Given the description of an element on the screen output the (x, y) to click on. 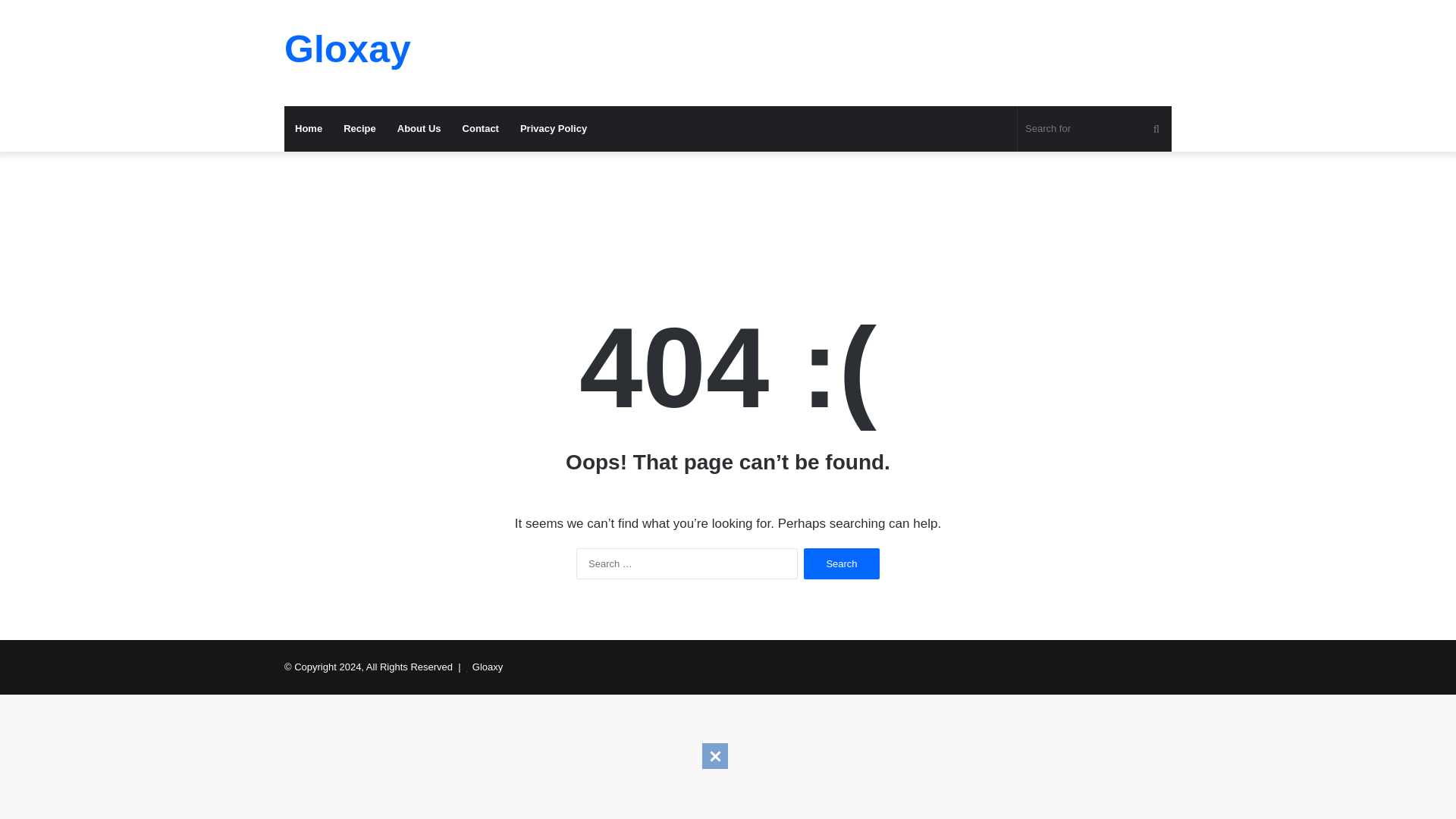
Recipe (360, 128)
Home (308, 128)
About Us (419, 128)
Privacy Policy (552, 128)
Contact (480, 128)
Gloxay (346, 48)
Search (841, 563)
Search for (1094, 128)
Gloxay (346, 48)
Search (841, 563)
